Given the description of an element on the screen output the (x, y) to click on. 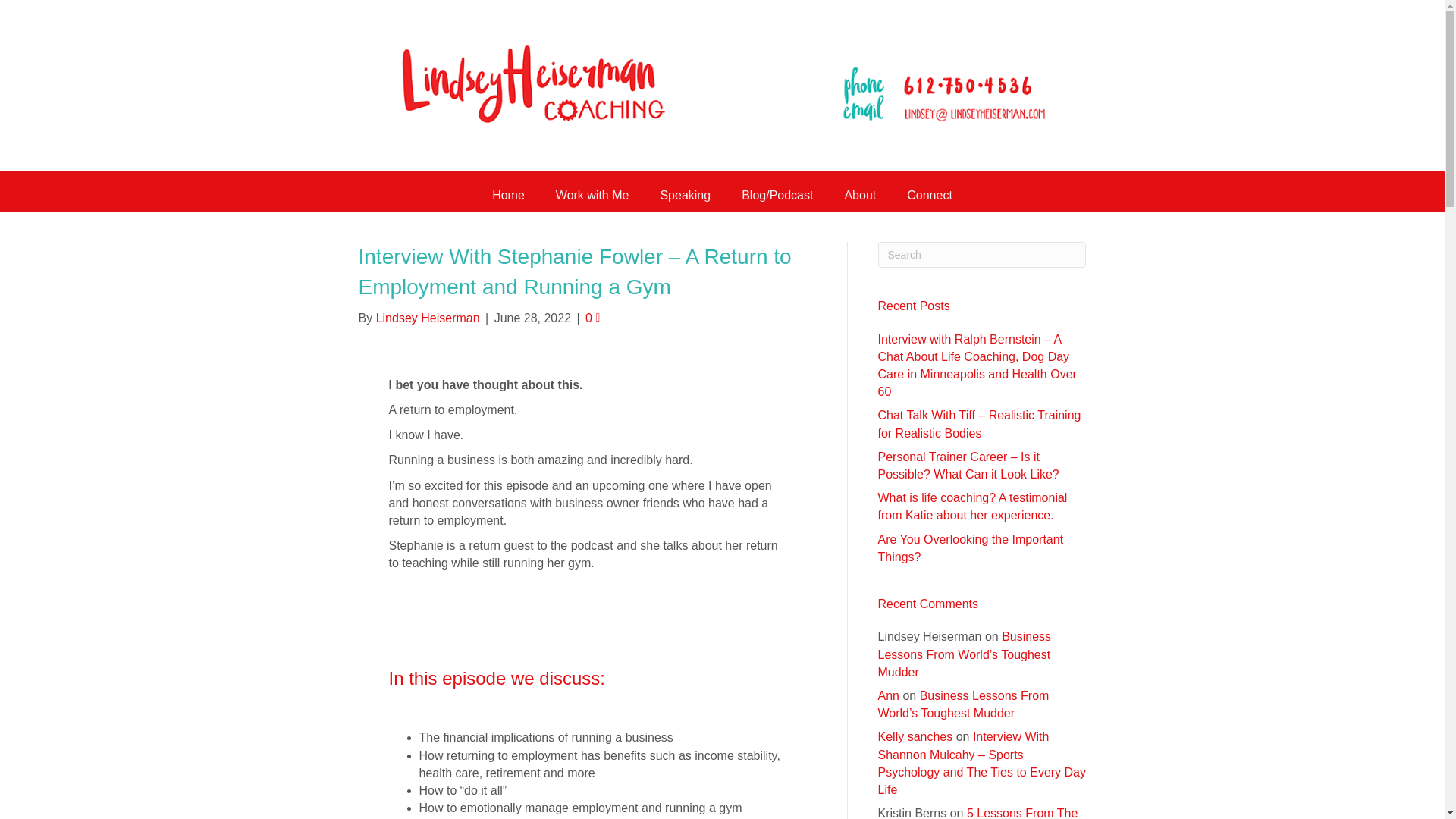
Home (508, 194)
Type and press Enter to search. (981, 254)
5 Lessons From The Last Decade (977, 812)
Are You Overlooking the Important Things? (970, 548)
Ann (888, 695)
0 (592, 318)
Kelly sanches (915, 736)
Connect (929, 194)
Work with Me (592, 194)
